Given the description of an element on the screen output the (x, y) to click on. 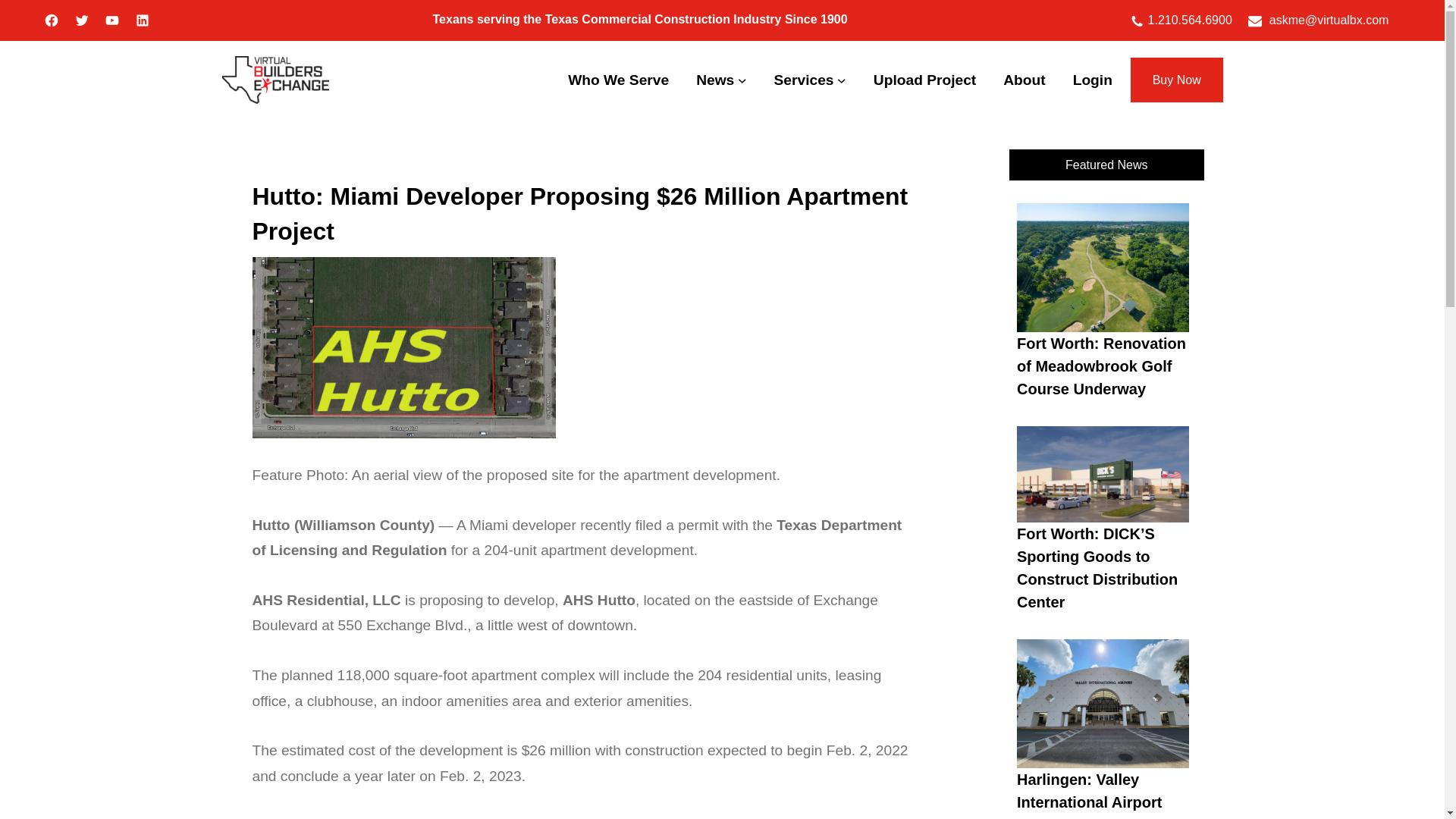
YouTube (111, 20)
Who We Serve (617, 80)
Featured News (1106, 164)
Fort Worth: Renovation of Meadowbrook Golf Course Underway (1101, 367)
Services (804, 80)
About (1024, 80)
Facebook (51, 20)
Upload Project (924, 80)
LinkedIn (142, 20)
Login (1092, 80)
